Given the description of an element on the screen output the (x, y) to click on. 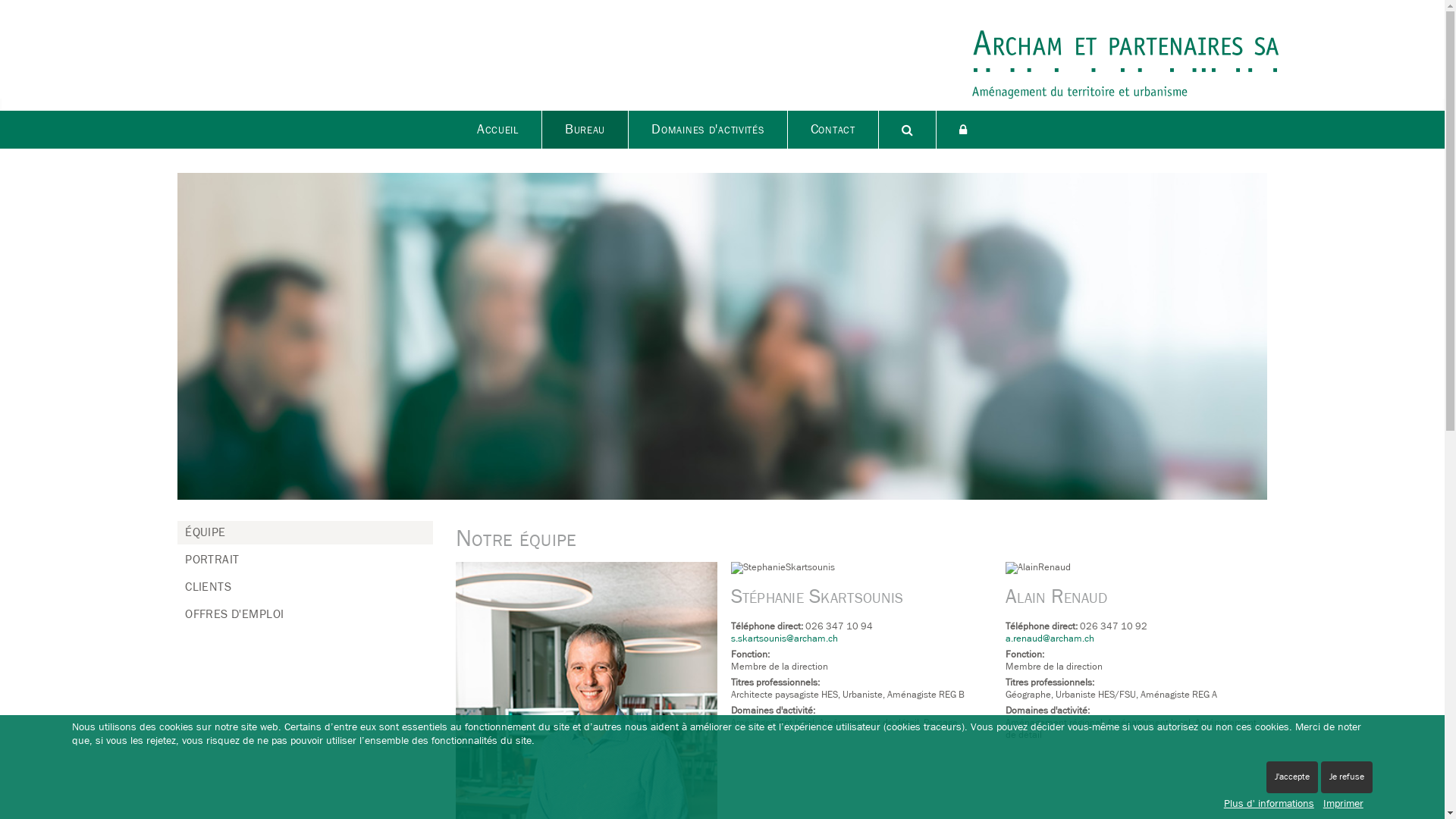
J'accepte Element type: text (1291, 777)
Plus d' informations Element type: text (1268, 804)
Recherche Element type: hover (907, 129)
OFFRES D'EMPLOI Element type: text (234, 614)
Bureau Element type: text (585, 129)
Login Element type: hover (963, 129)
a.renaud@archam.ch Element type: text (1049, 638)
CLIENTS Element type: text (208, 586)
s.skartsounis@archam.ch Element type: text (784, 638)
Imprimer Element type: text (1343, 804)
Je refuse Element type: text (1346, 777)
Contact Element type: text (832, 129)
Accueil Element type: text (498, 129)
PORTRAIT Element type: text (211, 559)
